Given the description of an element on the screen output the (x, y) to click on. 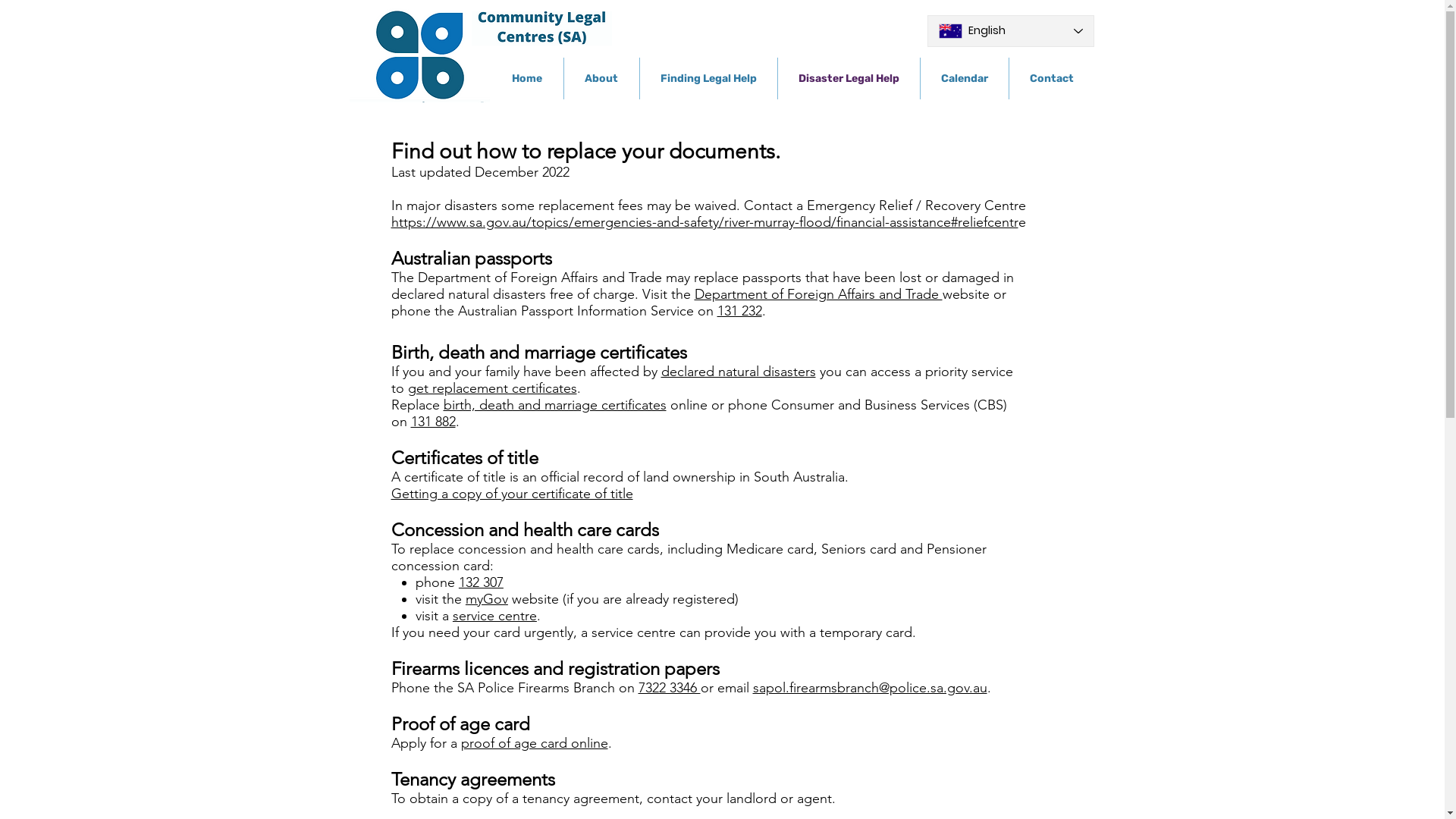
myGov Element type: text (486, 598)
declared natural disasters Element type: text (738, 371)
About Element type: text (601, 78)
Home Element type: text (527, 78)
Disaster Legal Help Element type: text (848, 78)
Contact Element type: text (1050, 78)
service centre Element type: text (494, 615)
Calendar Element type: text (964, 78)
7322 3346  Element type: text (669, 687)
131 882 Element type: text (433, 421)
sapol.firearmsbranch@police.sa.gov.au Element type: text (869, 687)
birth, death and marriage certificates Element type: text (553, 404)
Getting a copy of your certificate of title Element type: text (512, 493)
Department of Foreign Affairs and Trade  Element type: text (818, 293)
get replacement certificates Element type: text (492, 387)
Finding Legal Help Element type: text (708, 78)
proof of age card online Element type: text (534, 742)
132 307 Element type: text (480, 582)
